Given the description of an element on the screen output the (x, y) to click on. 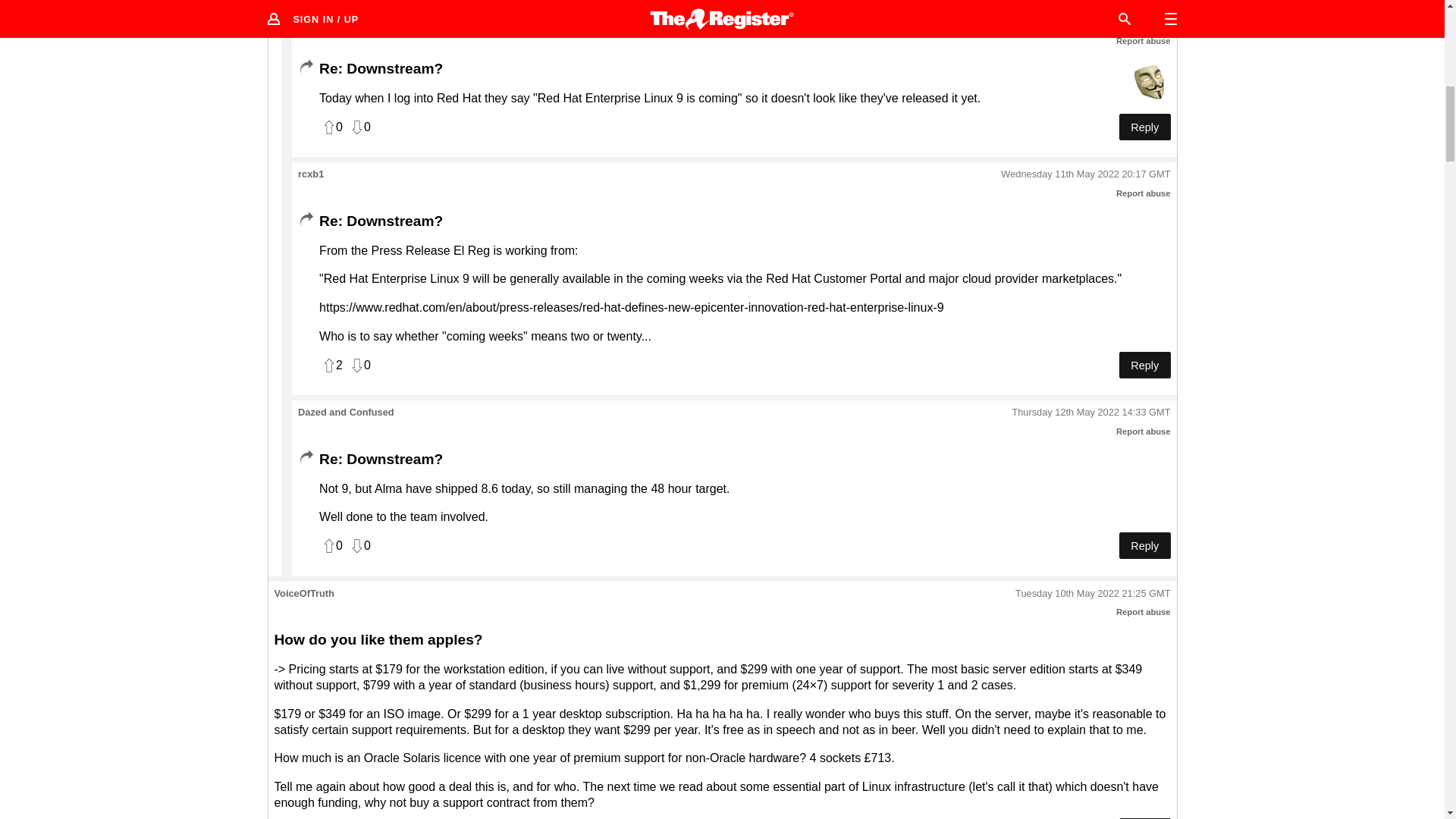
Report abuse (1143, 40)
Report abuse (1143, 430)
Report abuse (1143, 193)
Report abuse (1143, 611)
